Given the description of an element on the screen output the (x, y) to click on. 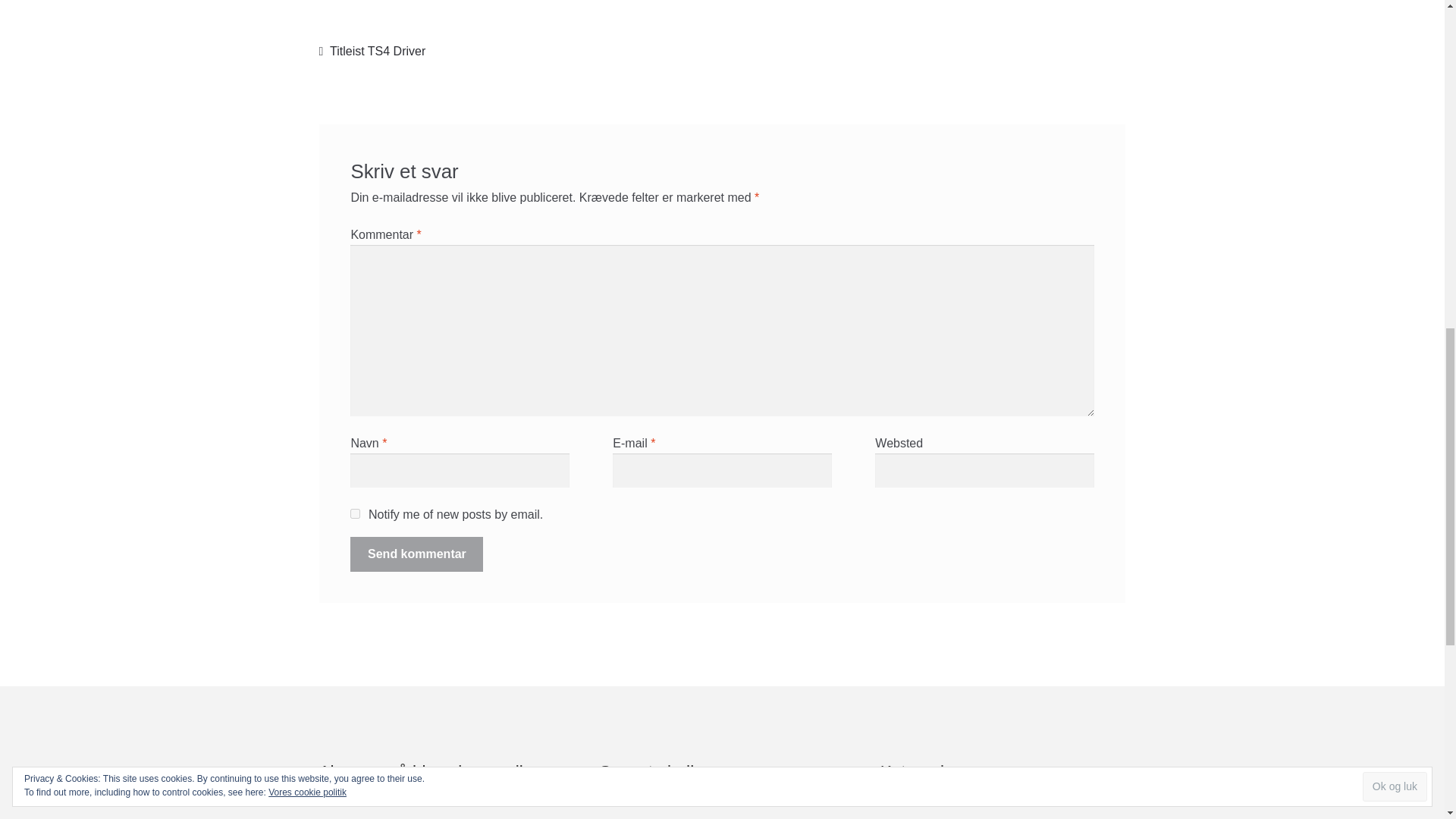
subscribe (354, 513)
Send kommentar (416, 554)
